Given the description of an element on the screen output the (x, y) to click on. 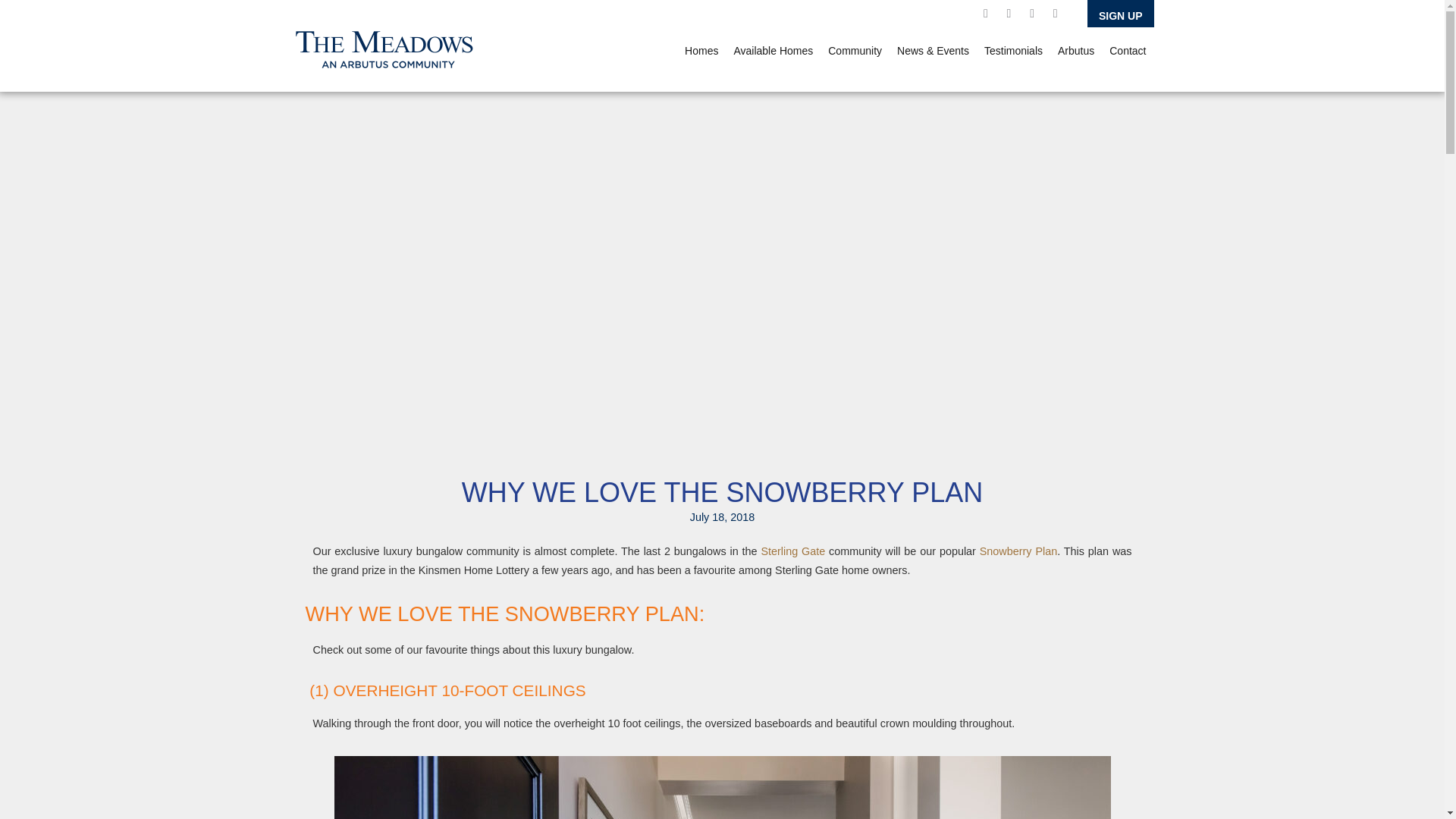
SIGN UP (1120, 13)
Available Homes (773, 50)
Arbutus (1075, 50)
Community (855, 50)
Snowberry Plan (1018, 551)
Testimonials (1012, 50)
Homes (701, 50)
Testimonials (1012, 50)
Available Homes (773, 50)
Contact (1127, 50)
